Given the description of an element on the screen output the (x, y) to click on. 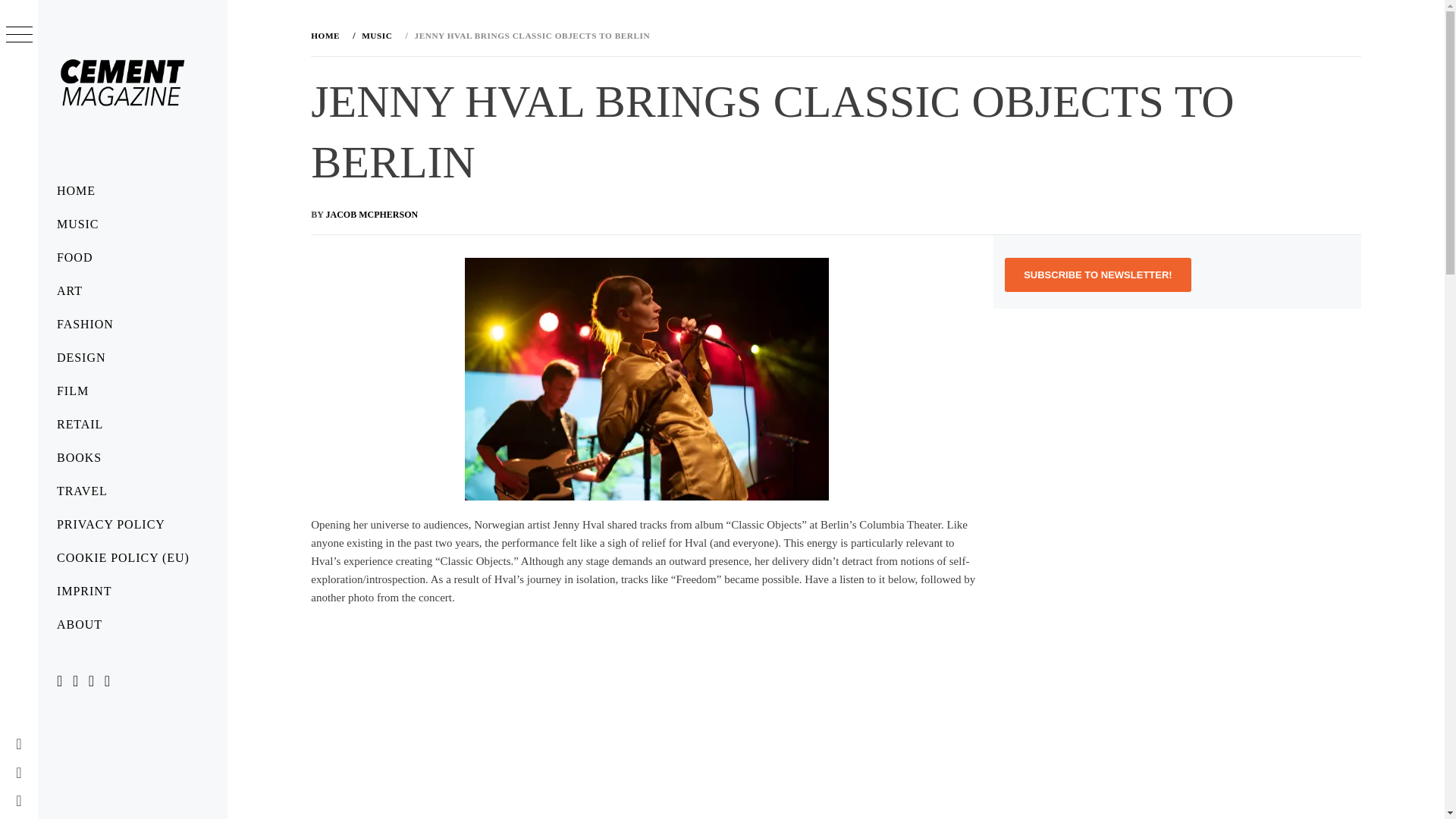
TRAVEL (132, 491)
MUSIC (374, 35)
BOOKS (132, 458)
ART (132, 290)
ABOUT (132, 624)
IMPRINT (132, 591)
PRIVACY POLICY (132, 524)
JACOB MCPHERSON (370, 214)
DESIGN (132, 357)
FOOD (132, 257)
FILM (132, 390)
RETAIL (132, 424)
CEMENT MAGAZINE (129, 178)
HOME (132, 191)
FASHION (132, 324)
